Given the description of an element on the screen output the (x, y) to click on. 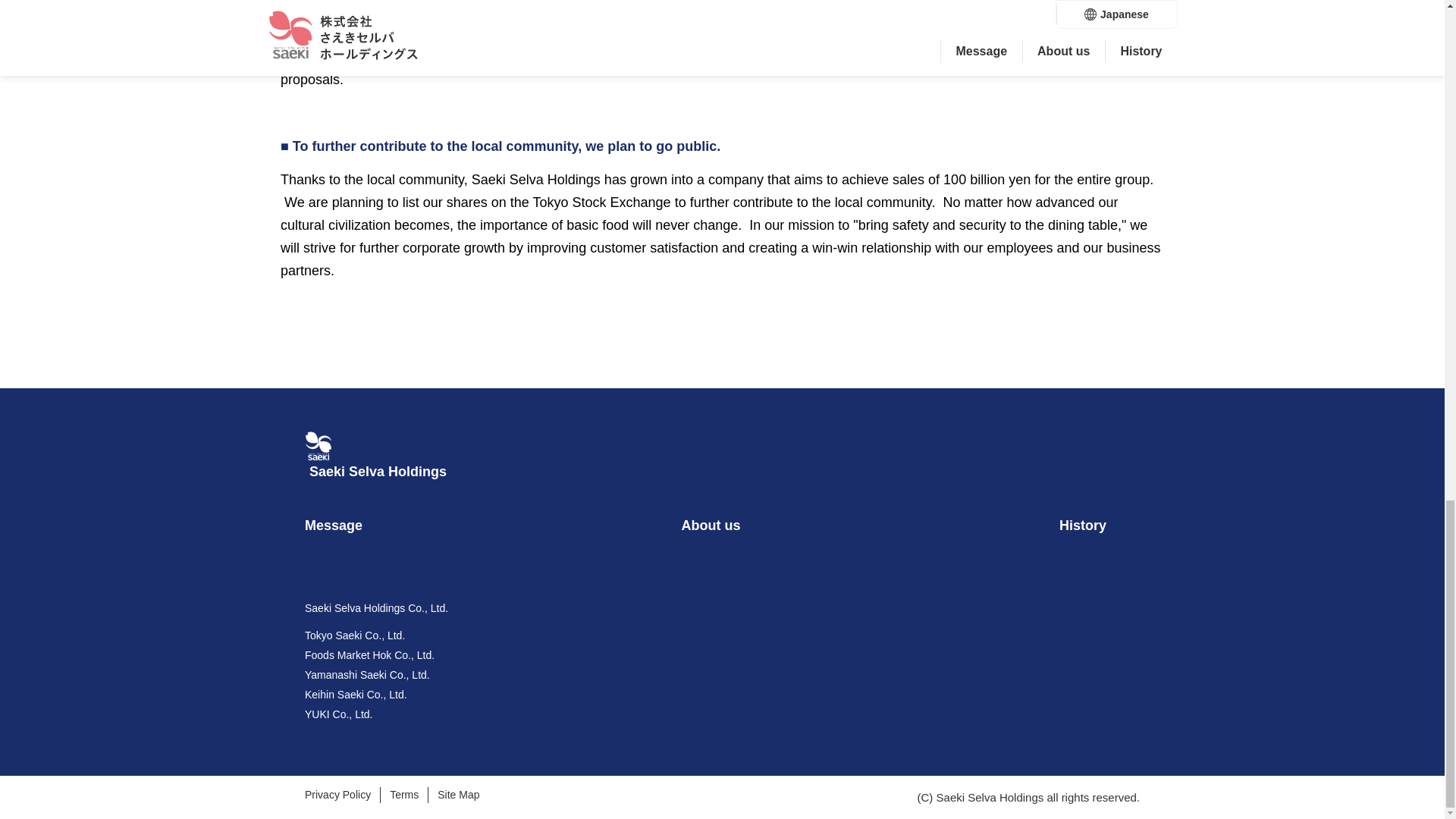
Message (333, 525)
Foods Market Hok Co., Ltd. (368, 654)
About us (710, 525)
Tokyo Saeki Co., Ltd. (354, 635)
Saeki Selva Holdings Co., Ltd. (376, 607)
Terms (404, 794)
Privacy Policy (337, 794)
Yamanashi Saeki Co., Ltd. (366, 674)
Site Map (458, 794)
History (1082, 525)
Saeki Selva Holdings (377, 471)
YUKI Co., Ltd. (338, 714)
Keihin Saeki Co., Ltd. (355, 694)
